Given the description of an element on the screen output the (x, y) to click on. 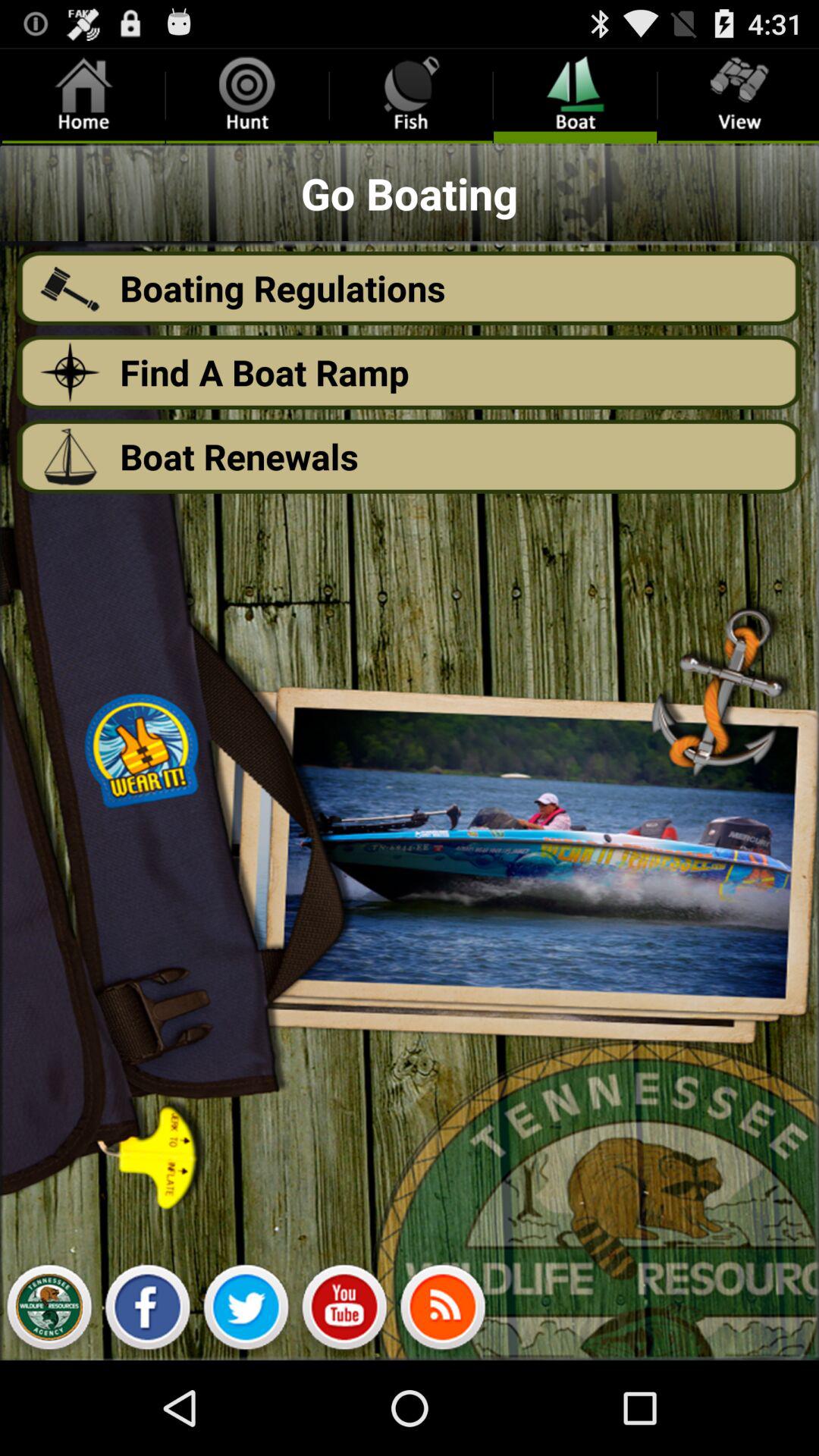
click on facebook (147, 1311)
